Given the description of an element on the screen output the (x, y) to click on. 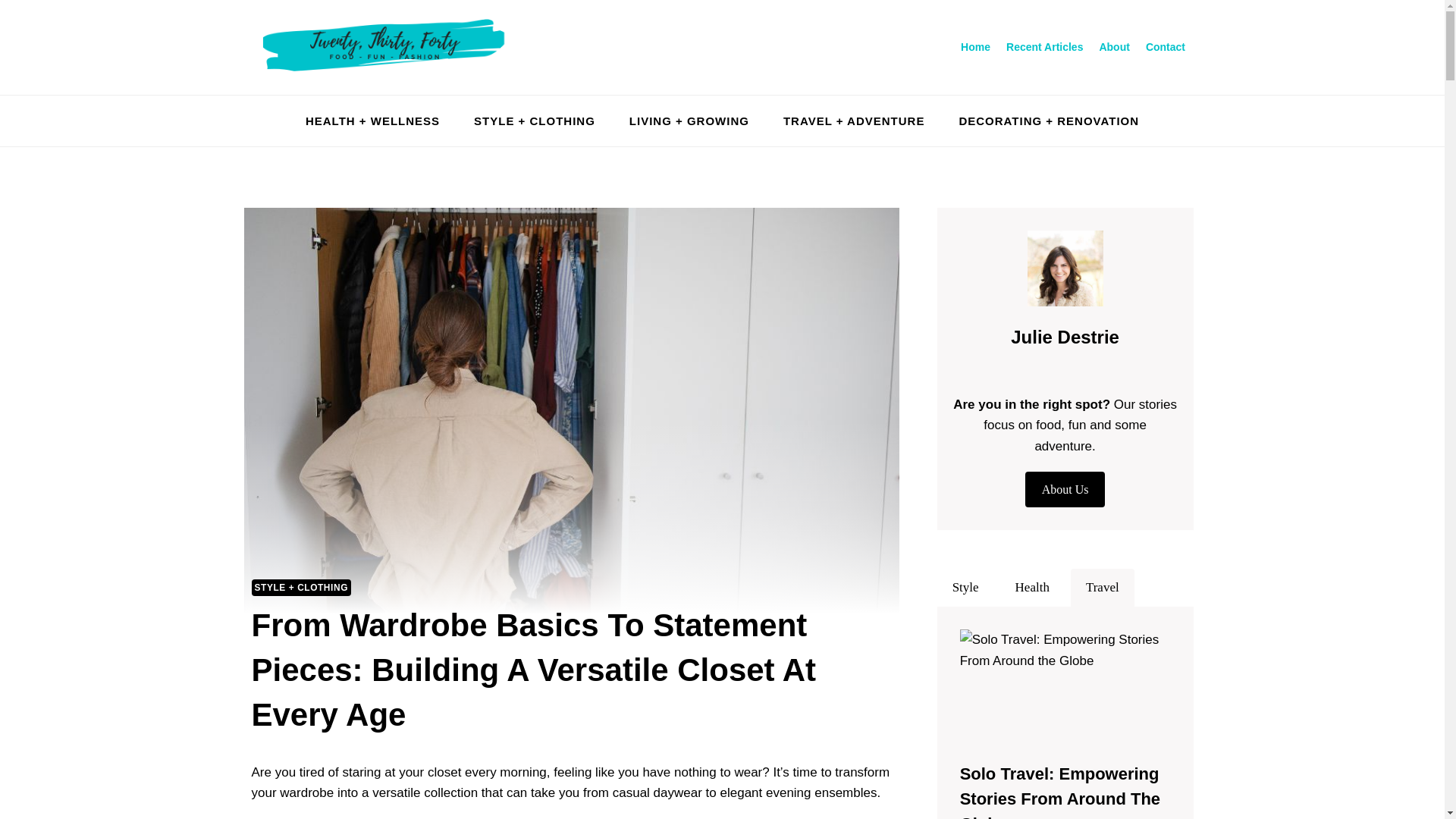
Contact (1164, 47)
About (1113, 47)
Home (975, 47)
Recent Articles (1044, 47)
